Given the description of an element on the screen output the (x, y) to click on. 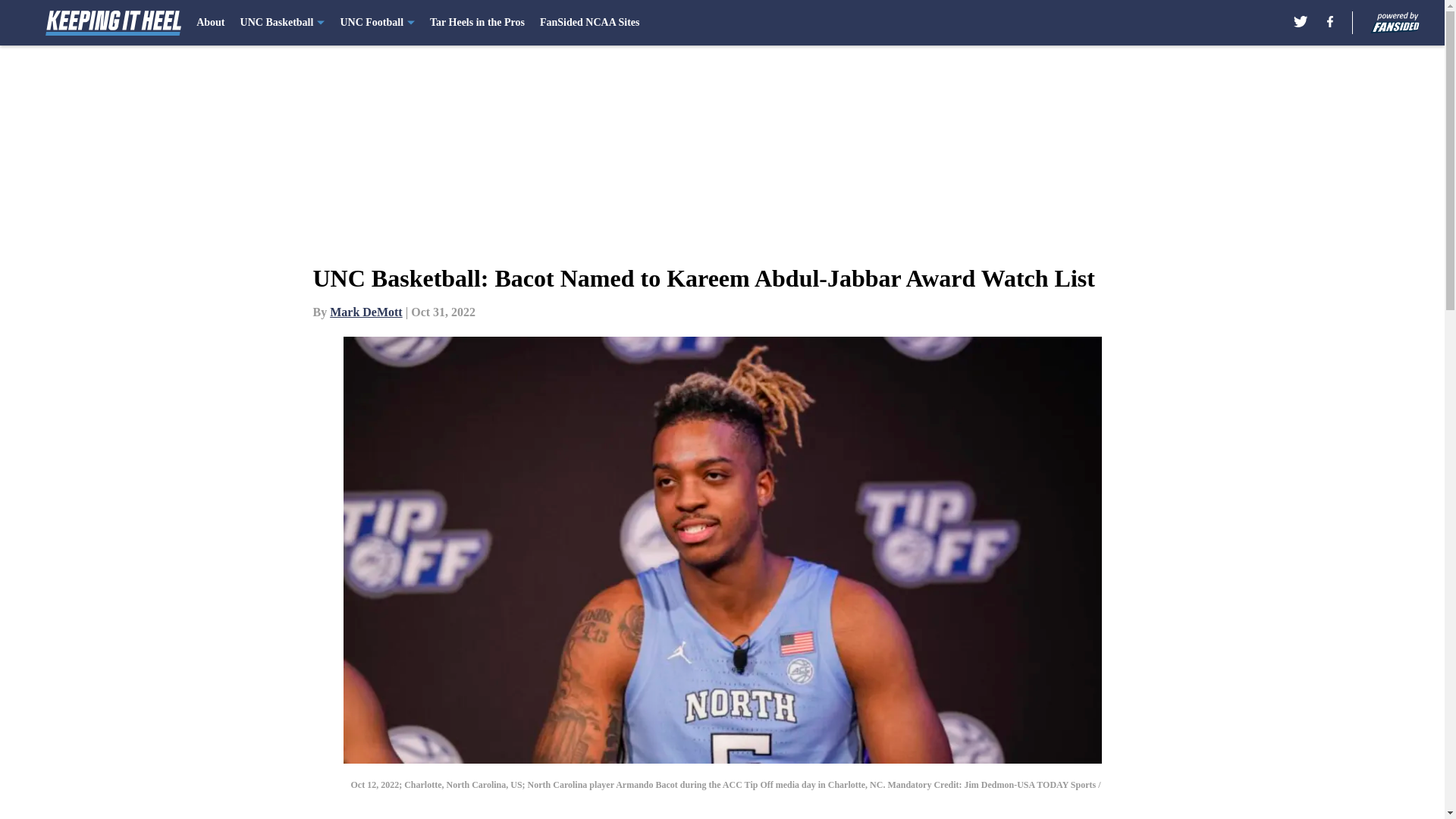
About (210, 22)
FanSided NCAA Sites (589, 22)
Tar Heels in the Pros (476, 22)
Mark DeMott (366, 311)
